Given the description of an element on the screen output the (x, y) to click on. 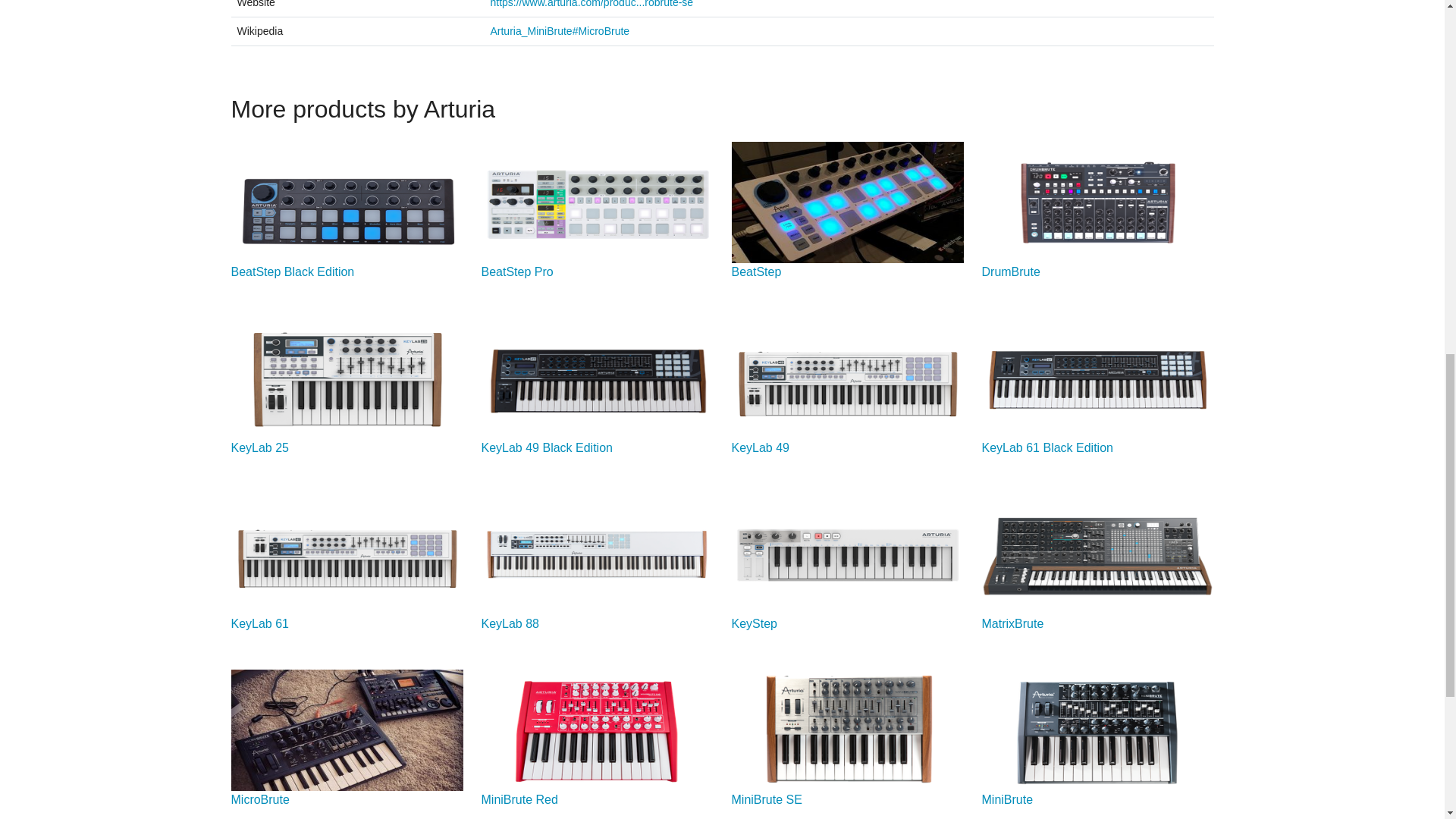
KeyLab 49 Black Edition (545, 447)
MiniBrute SE (766, 799)
MatrixBrute (1012, 623)
BeatStep (755, 271)
BeatStep Black Edition (291, 271)
DrumBrute (1010, 271)
KeyLab 61 (259, 623)
KeyLab 25 (259, 447)
BeatStep Pro (516, 271)
KeyLab 61 Black Edition (1046, 447)
MicroBrute (259, 799)
KeyStep (753, 623)
KeyLab 49 (759, 447)
KeyLab 88 (509, 623)
MiniBrute Red (518, 799)
